Given the description of an element on the screen output the (x, y) to click on. 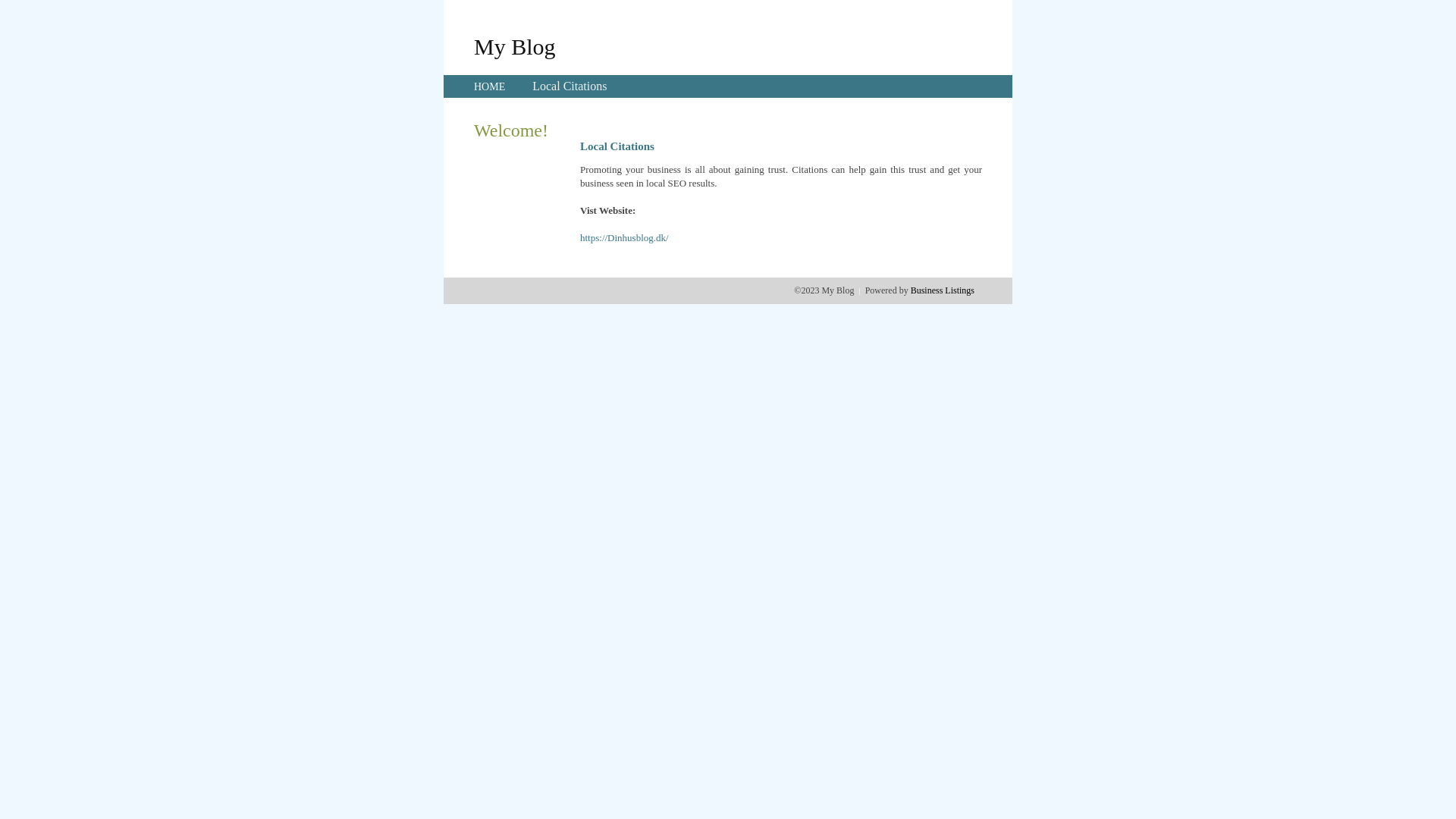
HOME Element type: text (489, 86)
My Blog Element type: text (514, 46)
Local Citations Element type: text (569, 85)
Business Listings Element type: text (942, 290)
https://Dinhusblog.dk/ Element type: text (624, 237)
